Given the description of an element on the screen output the (x, y) to click on. 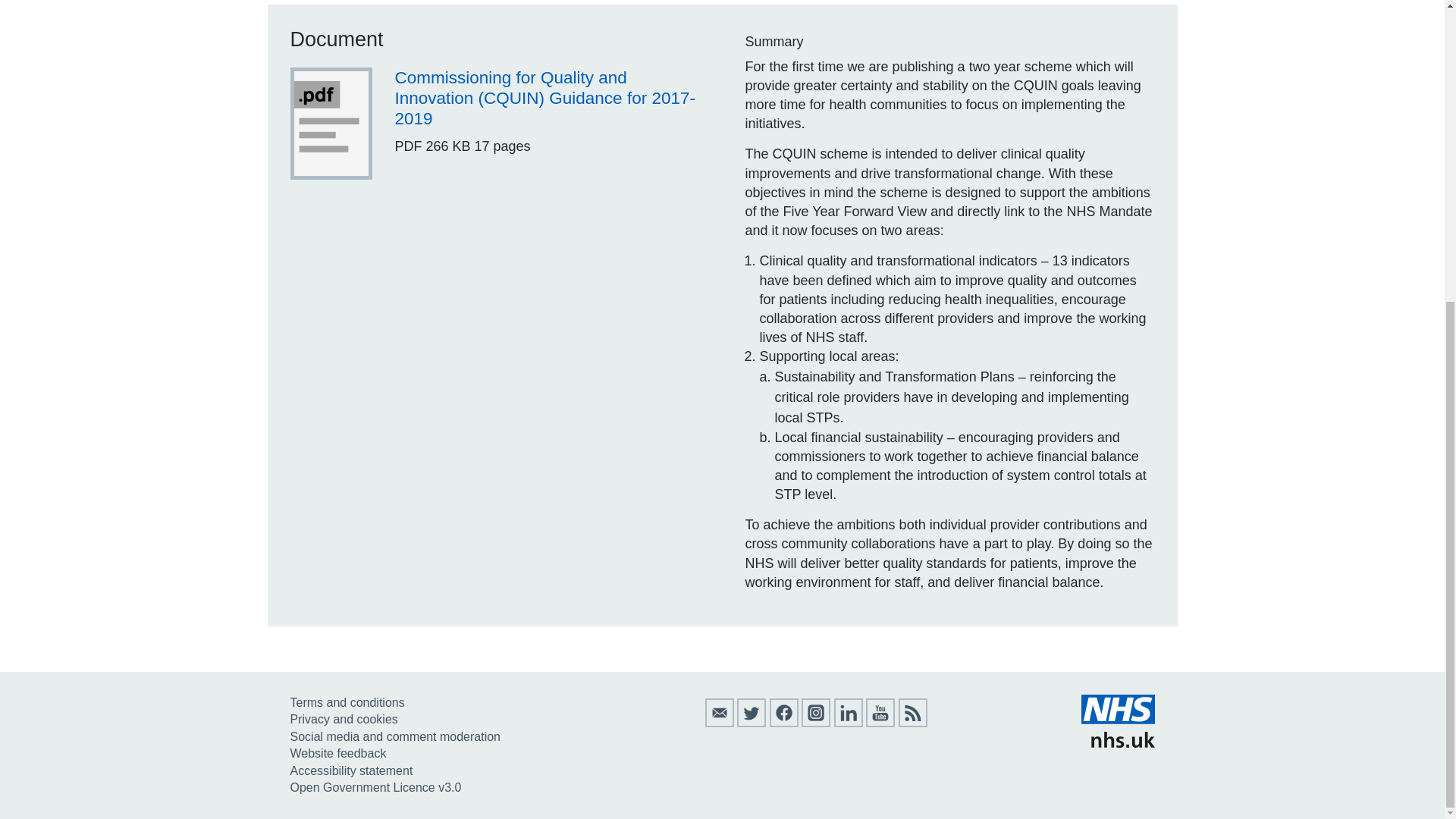
Social media and comment moderation (394, 736)
Open Government Licence v3.0 (375, 787)
Follow us on Facebook (783, 722)
Accessibility statement (350, 770)
Accessibility statement (350, 770)
Sign up to our email bulletins (718, 722)
Website feedback (337, 753)
Terms and conditions (346, 702)
Find us on Instagram (815, 722)
Terms and conditions (346, 702)
